Given the description of an element on the screen output the (x, y) to click on. 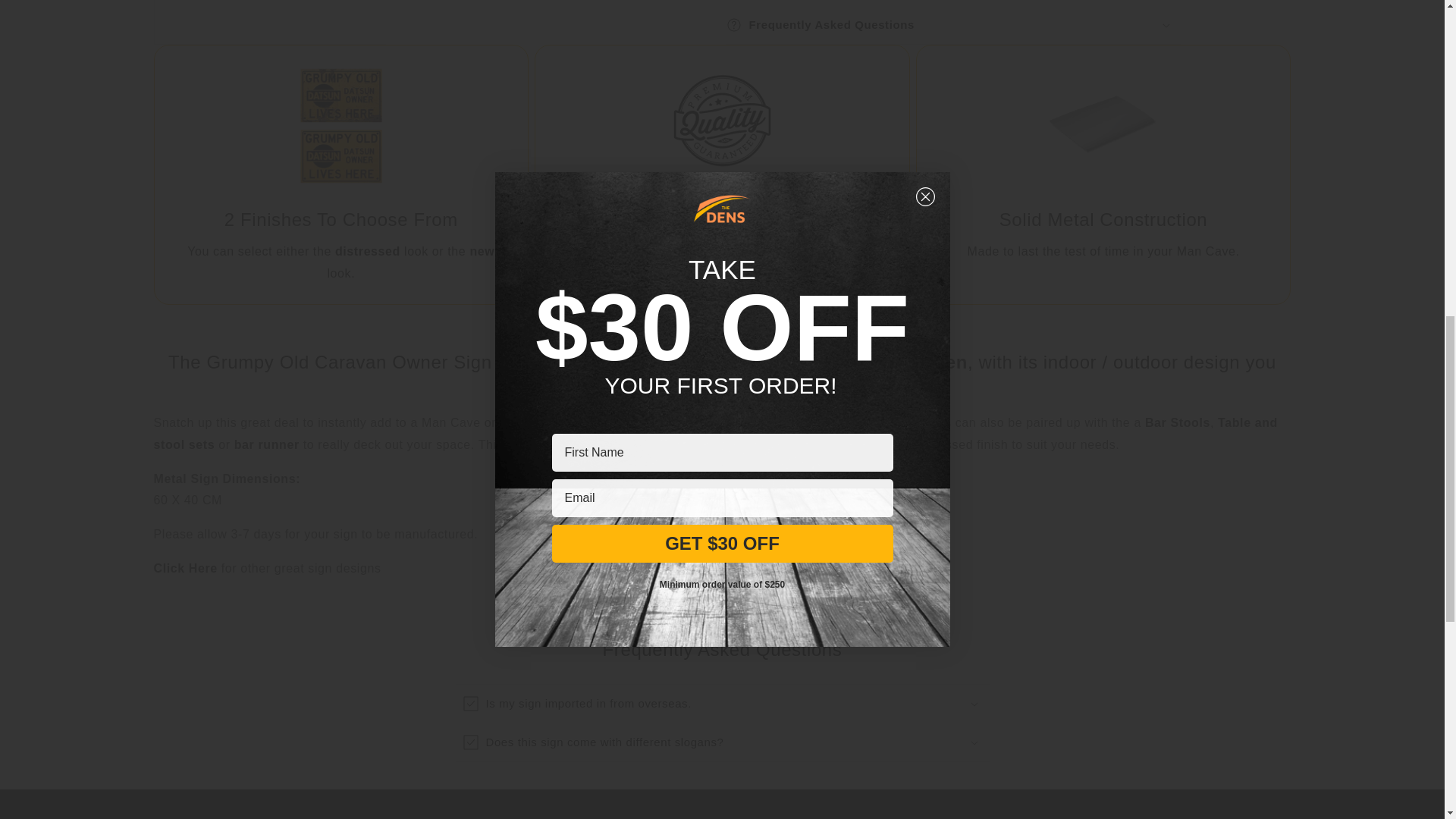
Bar Runner Collection (266, 444)
Home Page (867, 362)
Sign Collection (184, 567)
Bar Stool Collection (1176, 422)
